Given the description of an element on the screen output the (x, y) to click on. 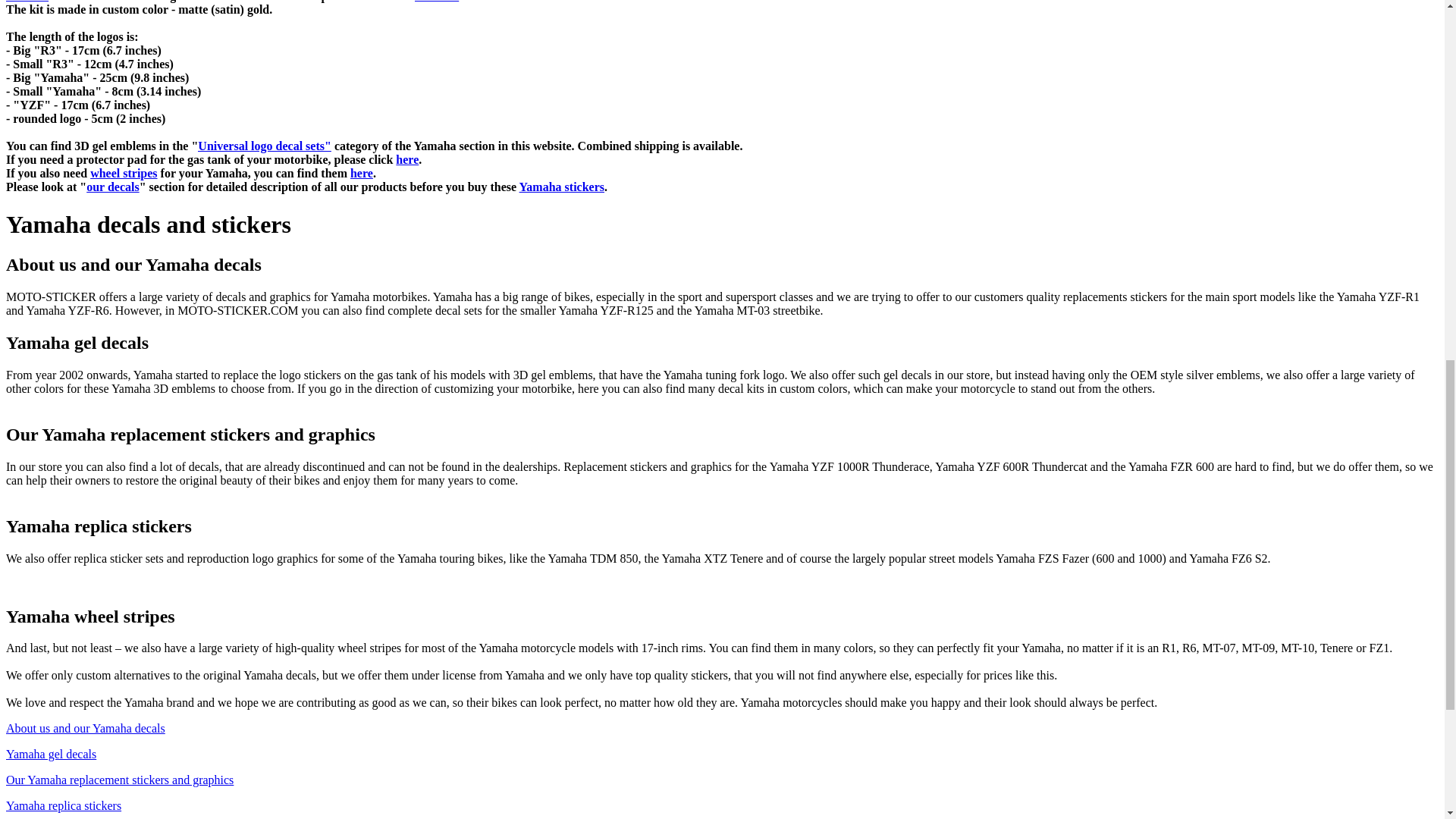
Decal sets and graphics for all kinds of sportbikes (436, 1)
Sticker kits and transfers for Yamaha motorcycles (561, 186)
Decal sets for Yamaha motorbikes (26, 1)
